Given the description of an element on the screen output the (x, y) to click on. 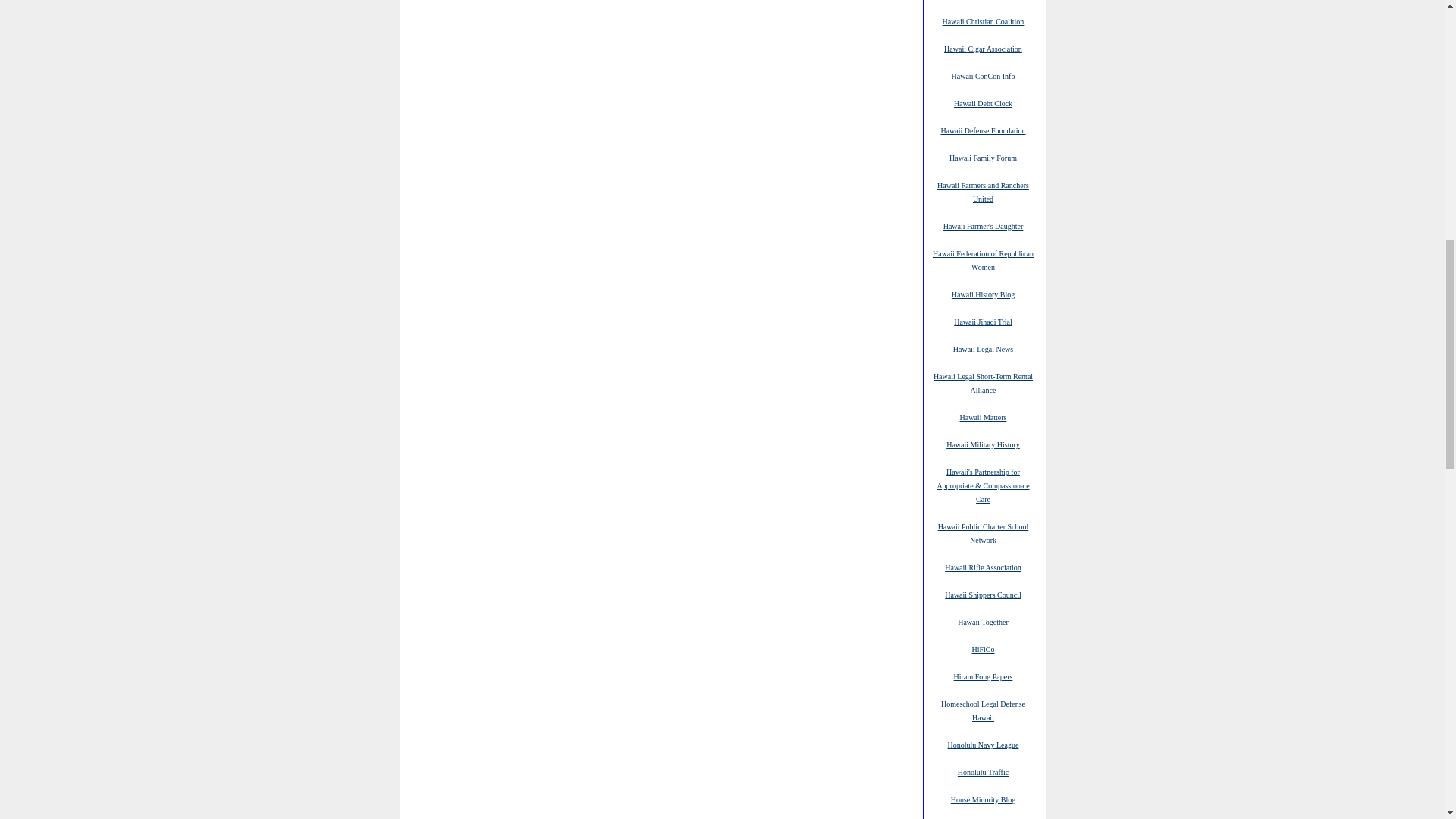
Hawaii Debt Clock (982, 102)
Hawaii Family Forum (982, 157)
Hawaii Farmers and Ranchers United (983, 191)
Hawaii Cigar Association (982, 48)
Hawaii Defense Foundation (982, 130)
Hawaii ConCon Info (983, 75)
Hawaii Christian Coalition (983, 20)
